Given the description of an element on the screen output the (x, y) to click on. 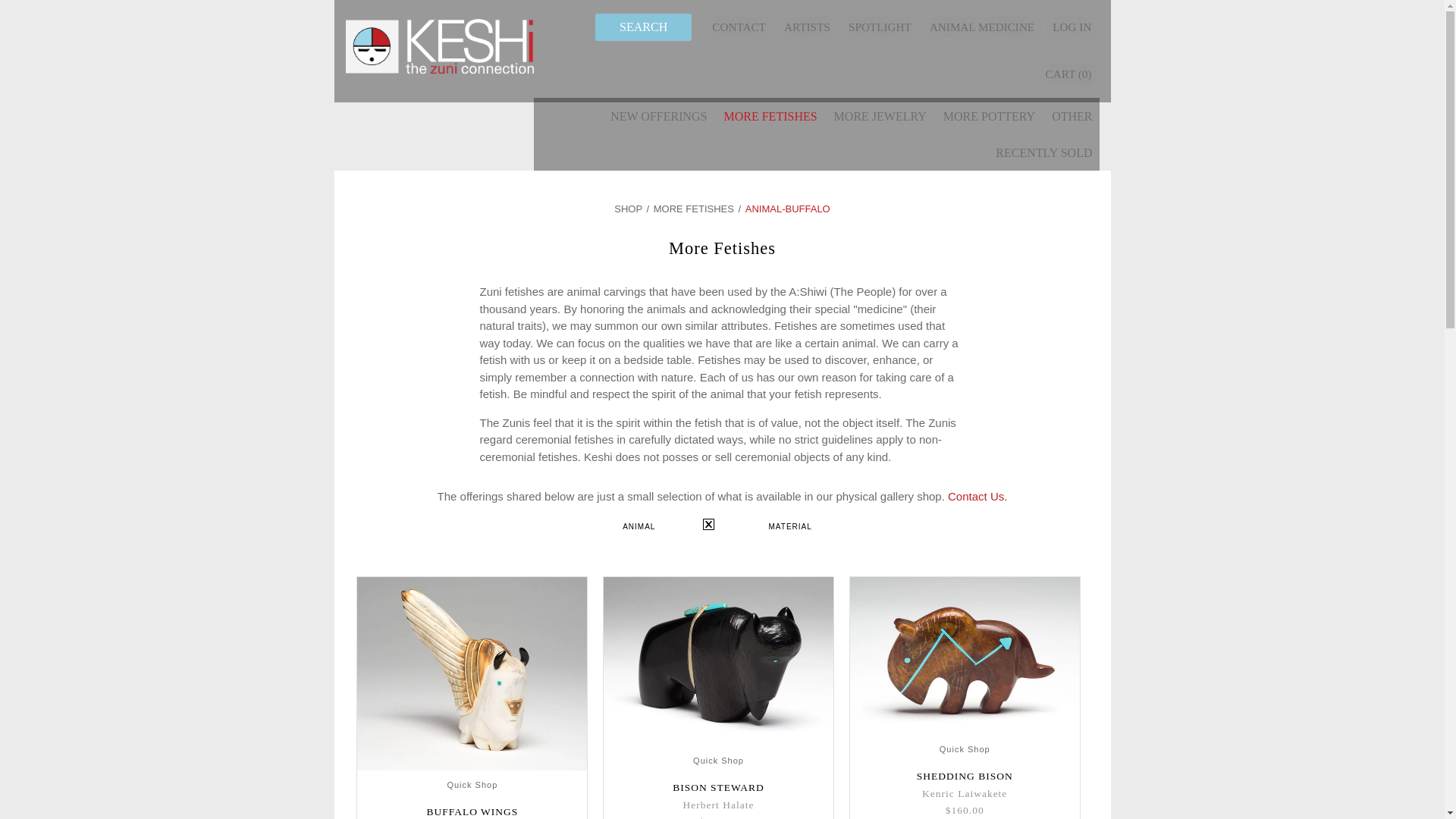
SEARCH (643, 26)
Contact Us. (977, 495)
MORE POTTERY (989, 115)
Search (643, 26)
shop (628, 208)
MORE JEWELRY (880, 115)
Quick Shop (471, 784)
SPOTLIGHT (879, 26)
CONTACT (738, 26)
SHOP (628, 208)
NEW OFFERINGS (658, 115)
ARTISTS (807, 26)
LOG IN (1072, 26)
MORE FETISHES (770, 115)
clear (708, 524)
